Given the description of an element on the screen output the (x, y) to click on. 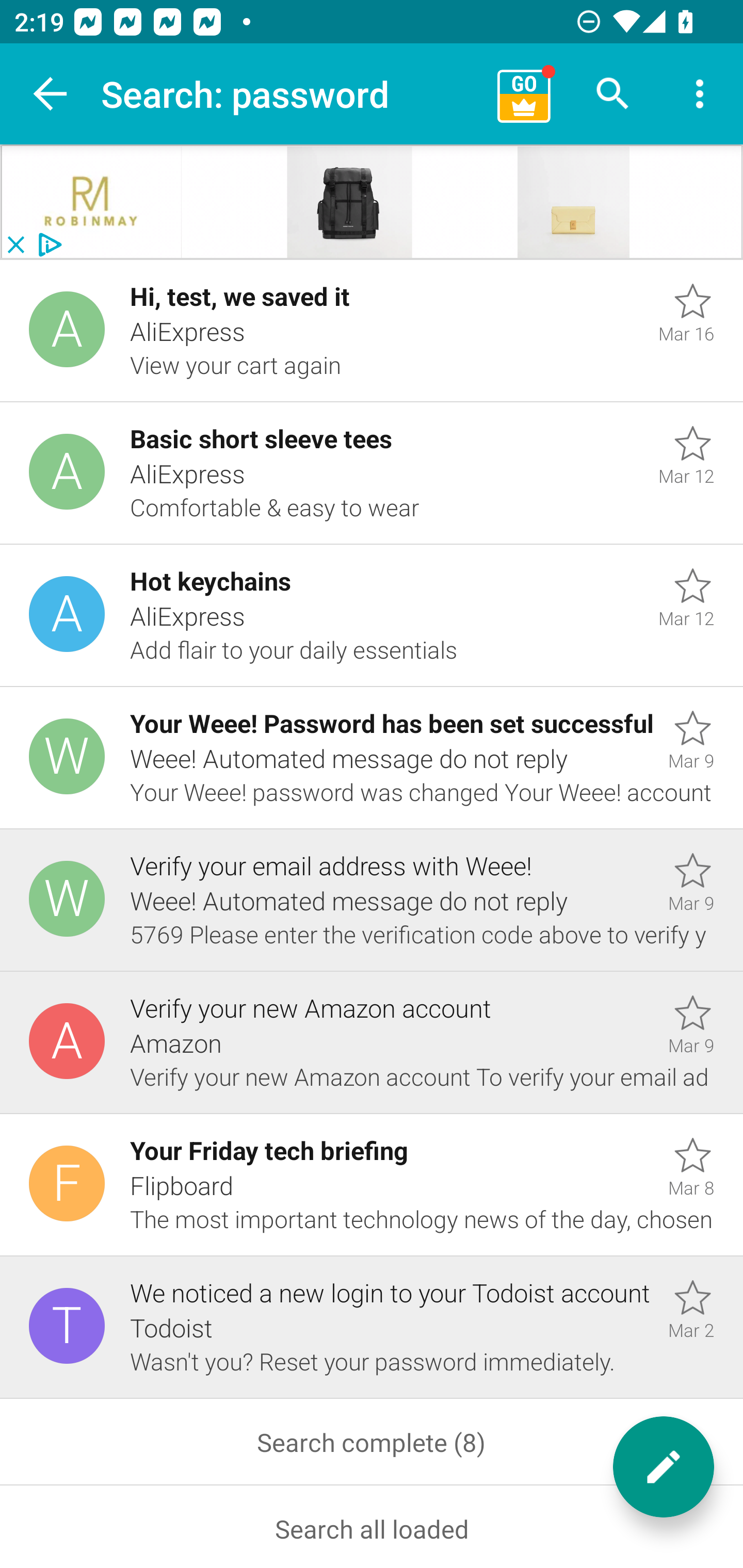
Navigate up (50, 93)
Search (612, 93)
More options (699, 93)
   (91, 202)
   (349, 202)
   (573, 202)
close_button (14, 245)
privacy_small (47, 245)
Search complete (8) (371, 1441)
New message (663, 1466)
Search all loaded (371, 1526)
